Given the description of an element on the screen output the (x, y) to click on. 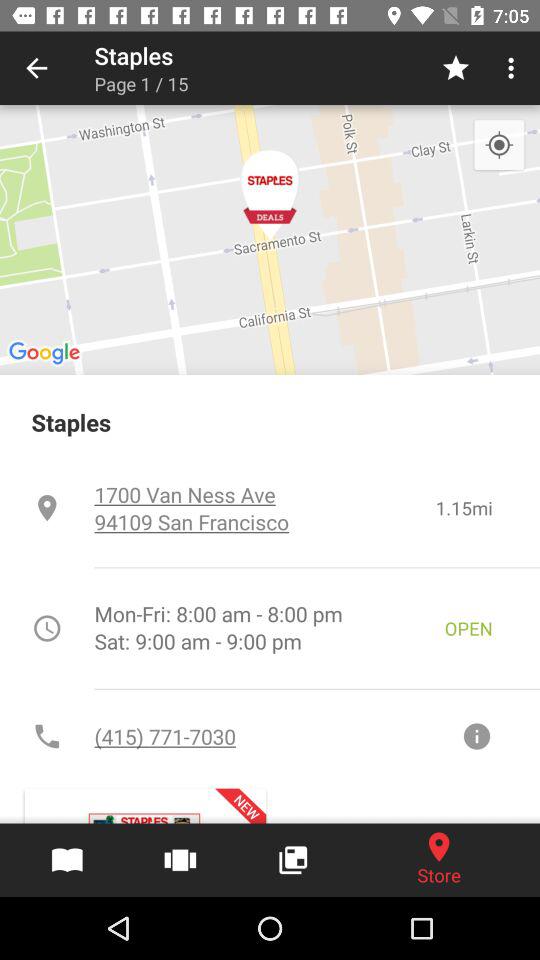
more information (476, 736)
